Given the description of an element on the screen output the (x, y) to click on. 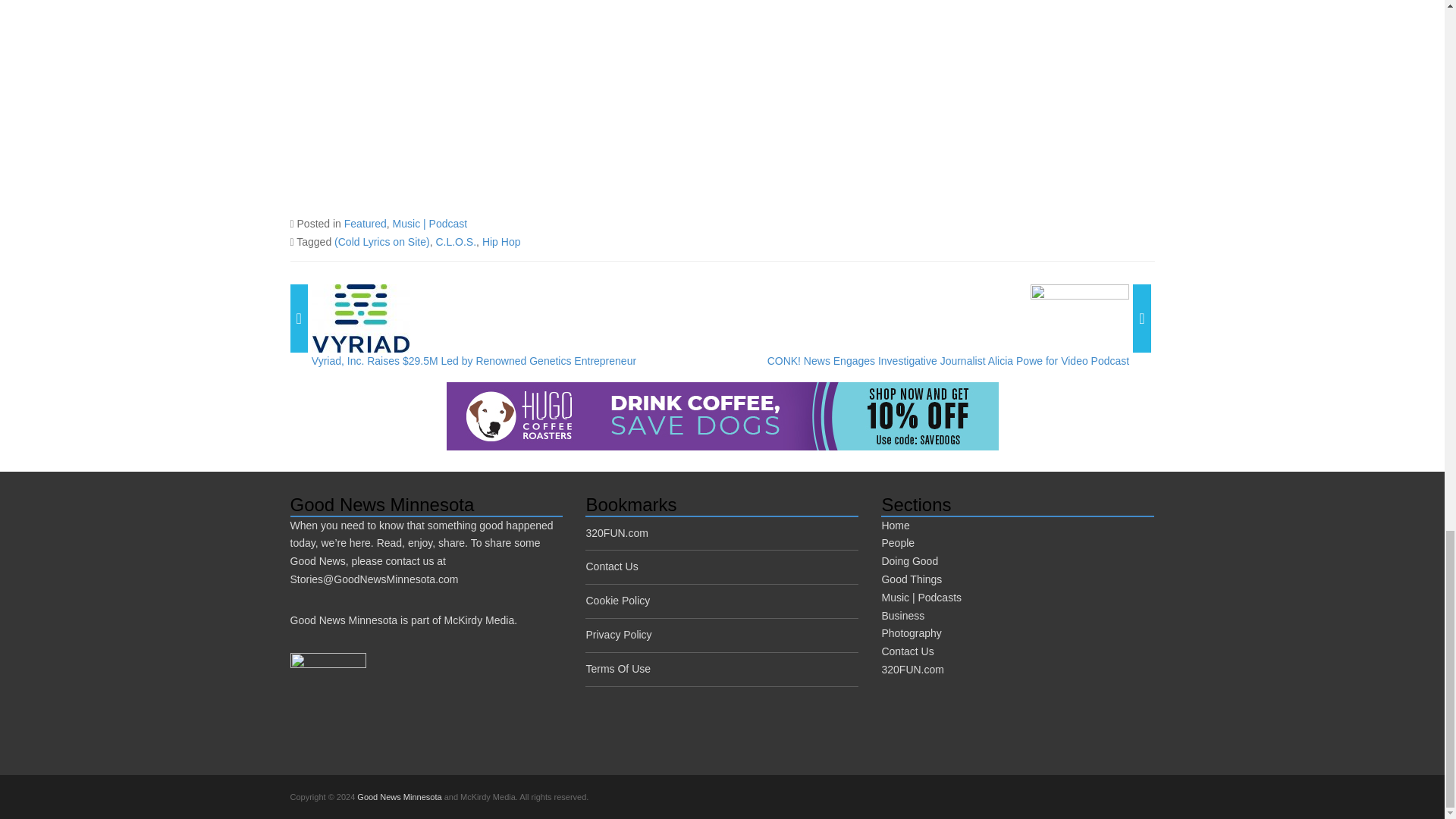
Featured (365, 223)
Things to do in the 320 Area Code (616, 532)
320FUN.com (616, 532)
Terms Of Use (617, 668)
Contact Us (611, 566)
Good News Minnesota (398, 796)
Privacy Policy (617, 634)
C.L.O.S. (455, 241)
Hip Hop (501, 241)
